Given the description of an element on the screen output the (x, y) to click on. 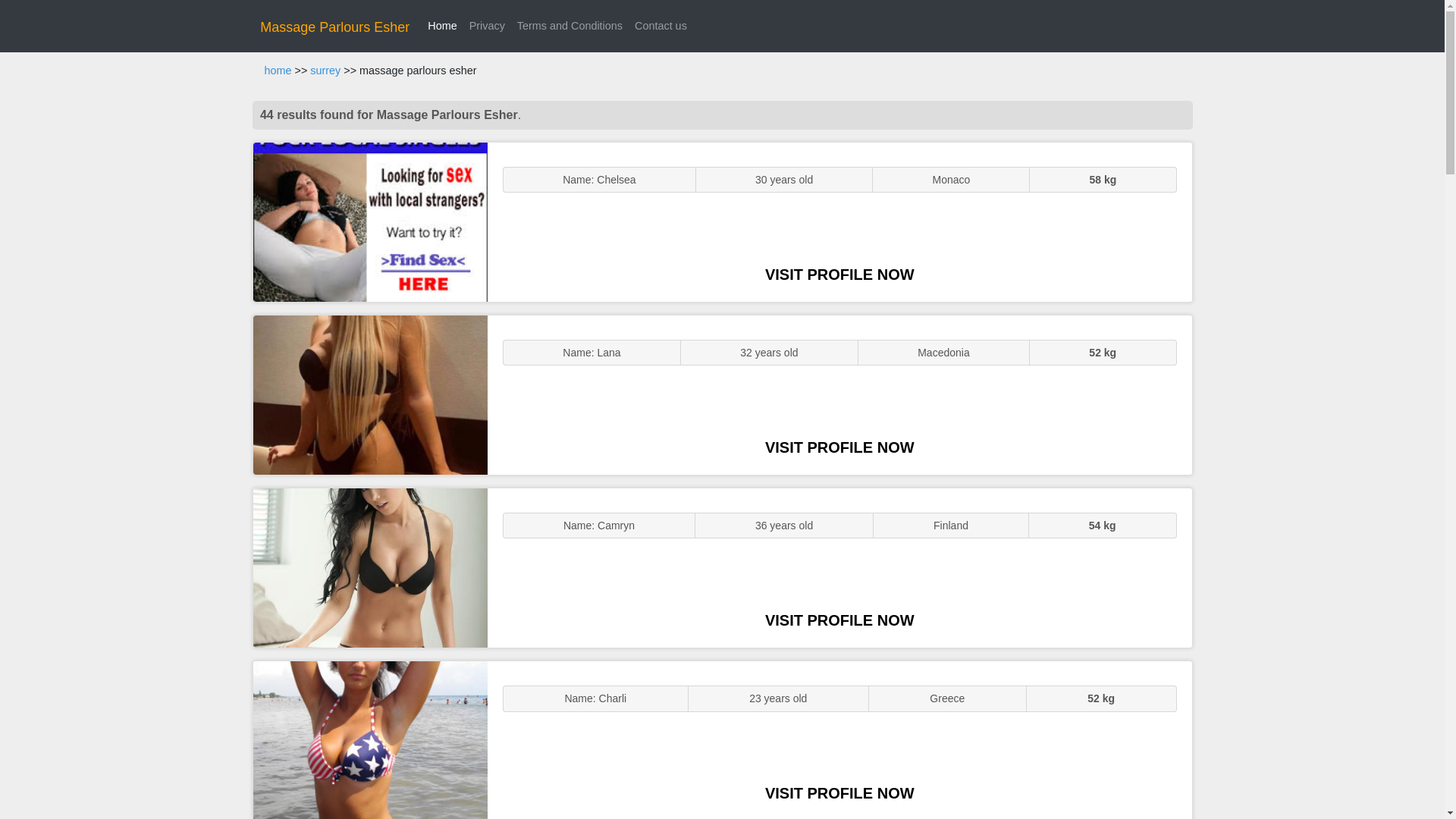
Massage Parlours Esher (334, 27)
VISIT PROFILE NOW (839, 619)
Sexy (370, 567)
 ENGLISH STUNNER (370, 222)
VISIT PROFILE NOW (839, 446)
home (277, 70)
Terms and Conditions (569, 25)
Contact us (660, 25)
Sluts (370, 739)
surrey (325, 70)
VISIT PROFILE NOW (839, 274)
GFE (370, 395)
VISIT PROFILE NOW (839, 792)
Privacy (487, 25)
